Given the description of an element on the screen output the (x, y) to click on. 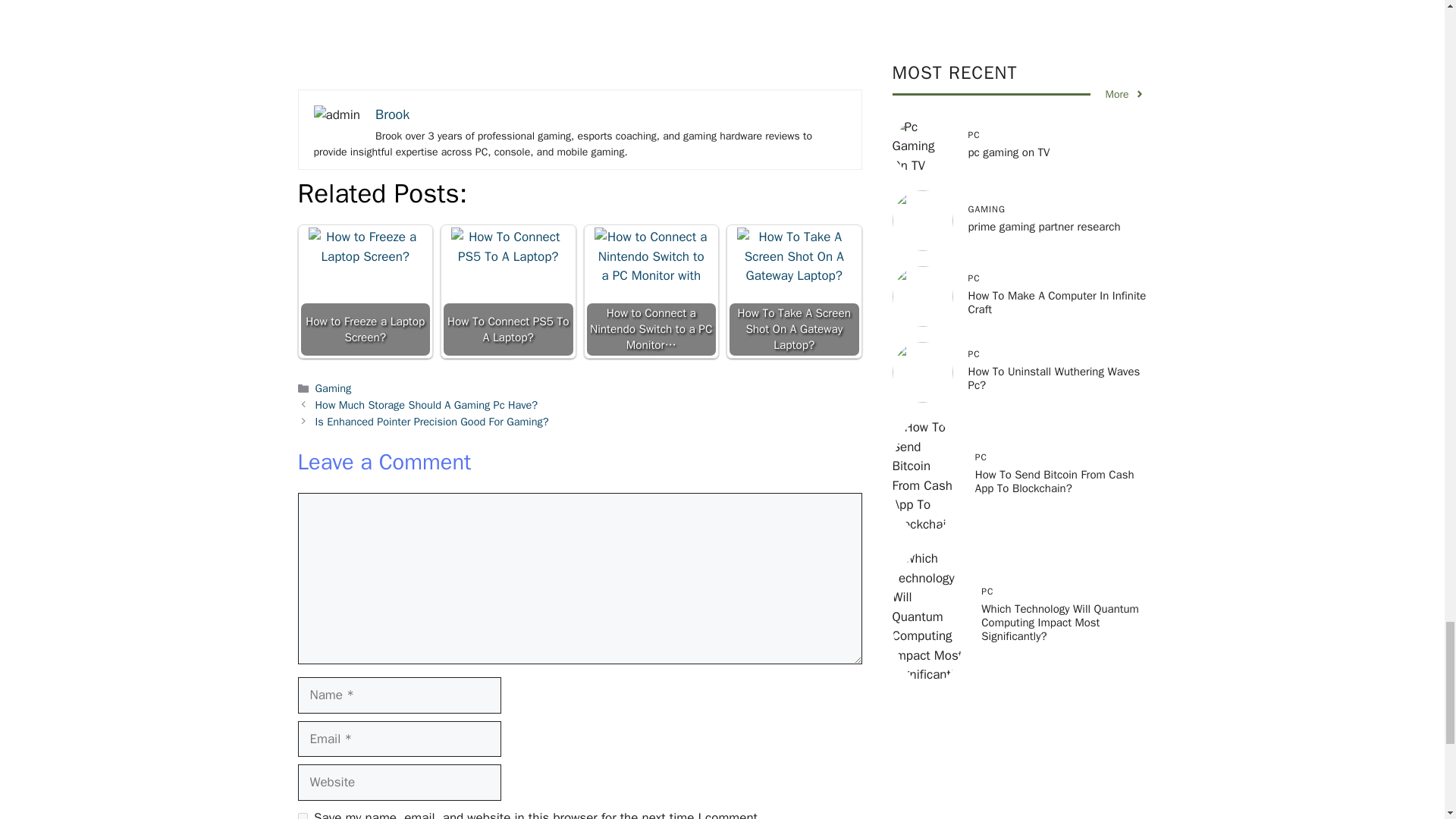
Gaming (333, 387)
How to Freeze a Laptop Screen? (365, 291)
yes (302, 816)
How To Take A Screen Shot On A Gateway Laptop? (793, 291)
Brook (392, 114)
How To Connect PS5 To A Laptop? (508, 291)
